Given the description of an element on the screen output the (x, y) to click on. 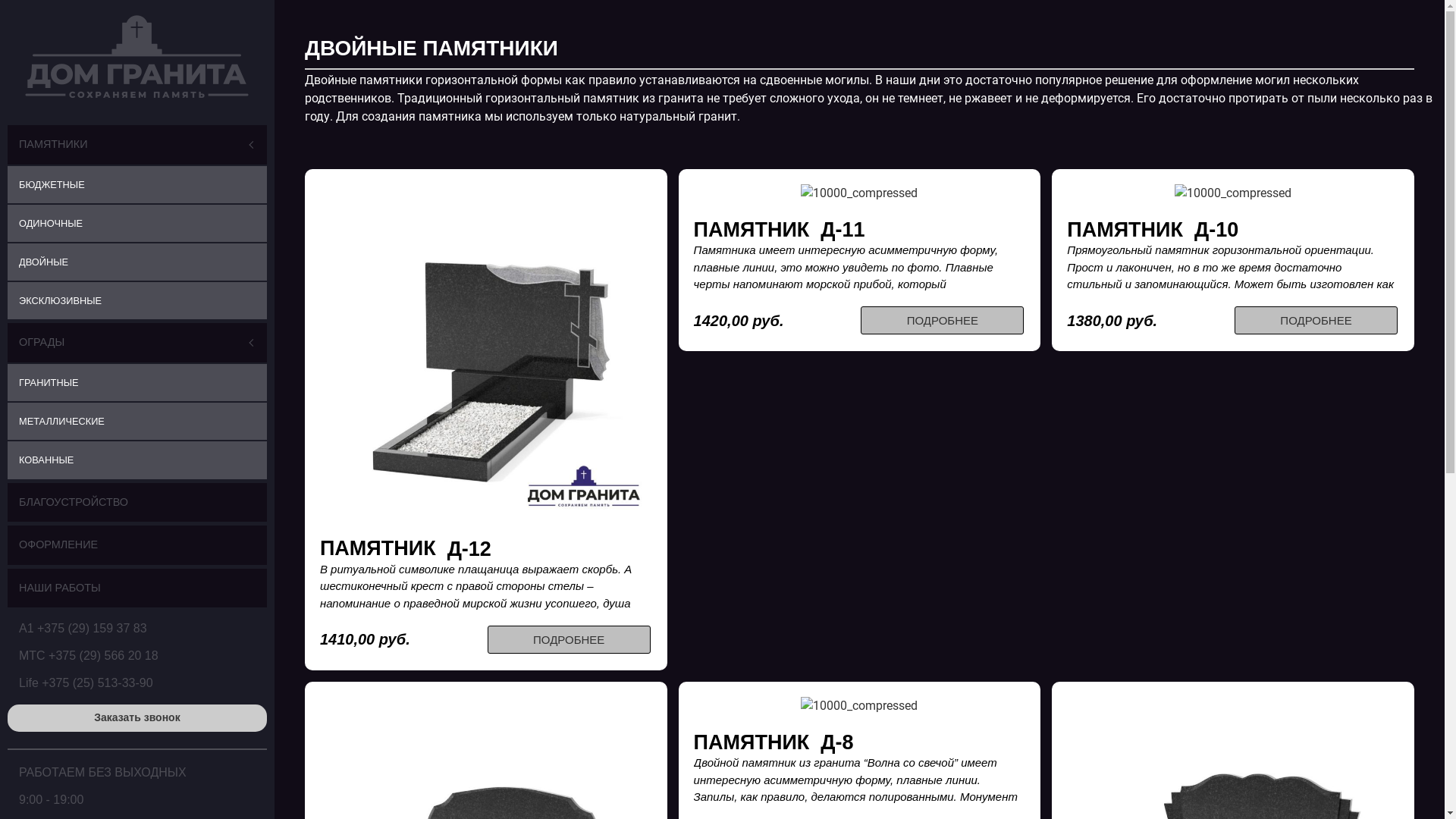
Life +375 (25) 513-33-90 Element type: text (85, 682)
